Given the description of an element on the screen output the (x, y) to click on. 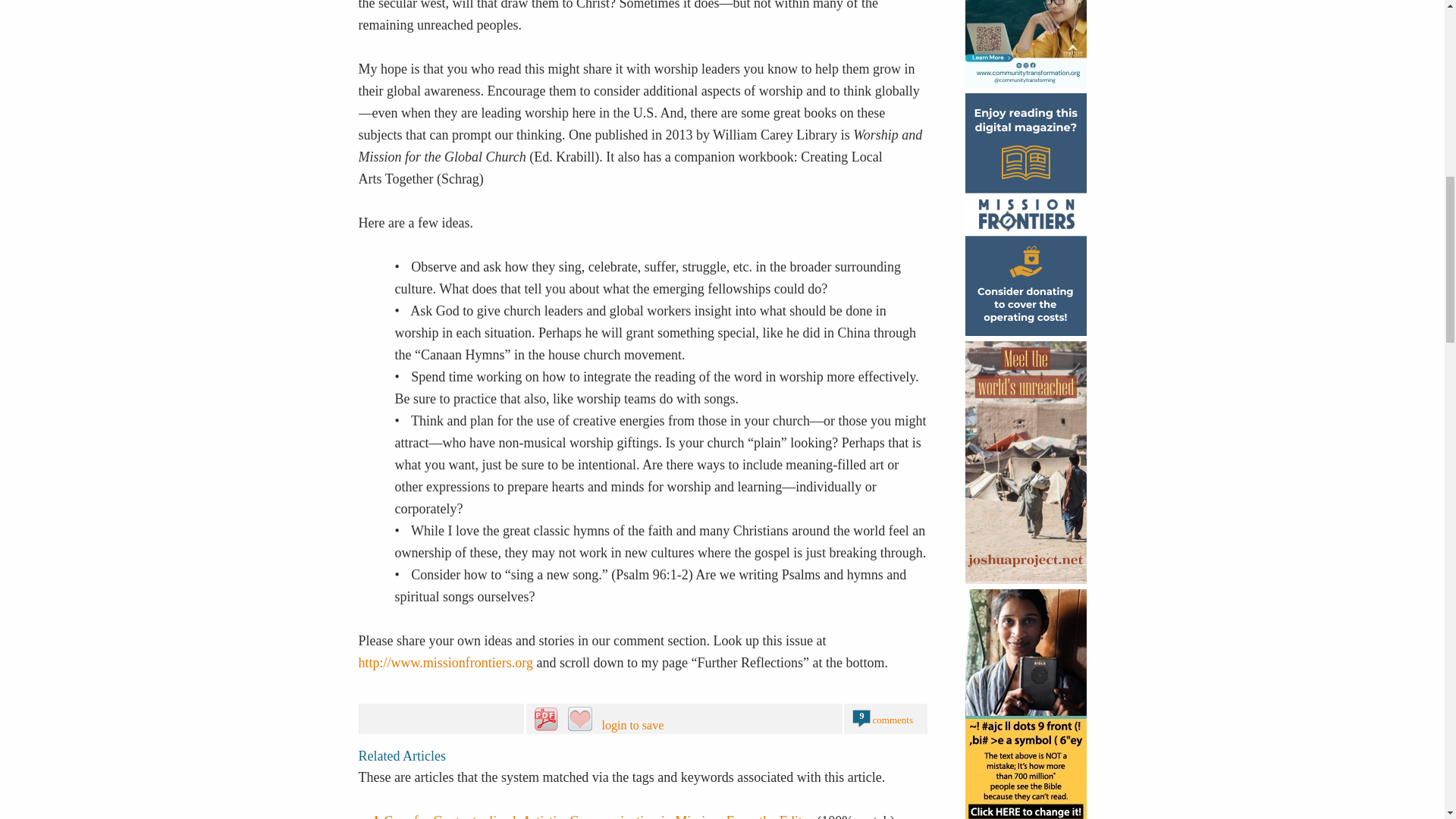
comments (892, 719)
login to save (666, 719)
